Given the description of an element on the screen output the (x, y) to click on. 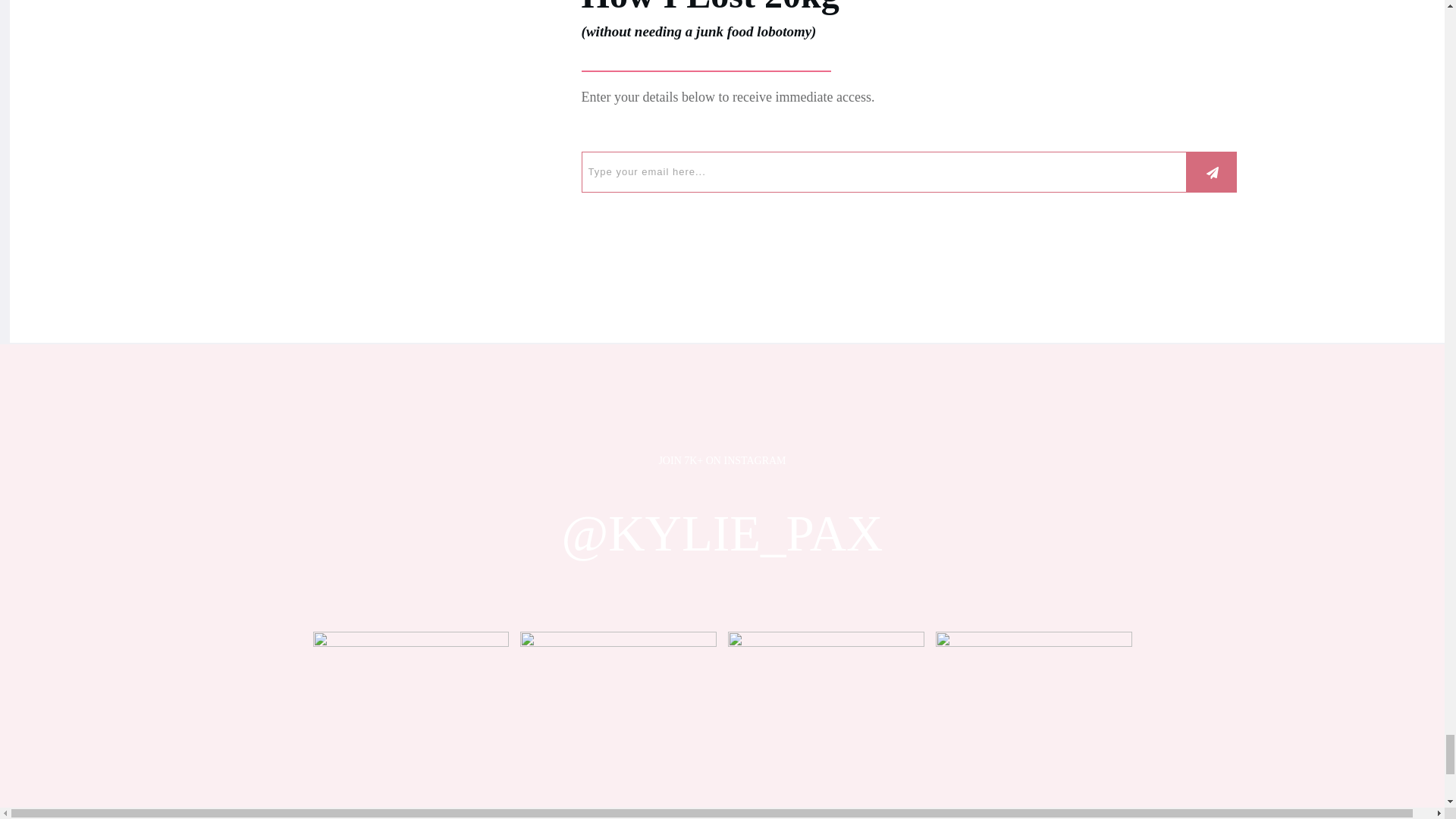
2... (617, 725)
Screenshot 2023-07-17 at 4.55.49 pm copy 4 (410, 725)
1.. (1034, 725)
FREE COURSE 2024 (426, 130)
Screenshot 2023-07-17 at 4.55.49 pm copy 3 (826, 725)
